Given the description of an element on the screen output the (x, y) to click on. 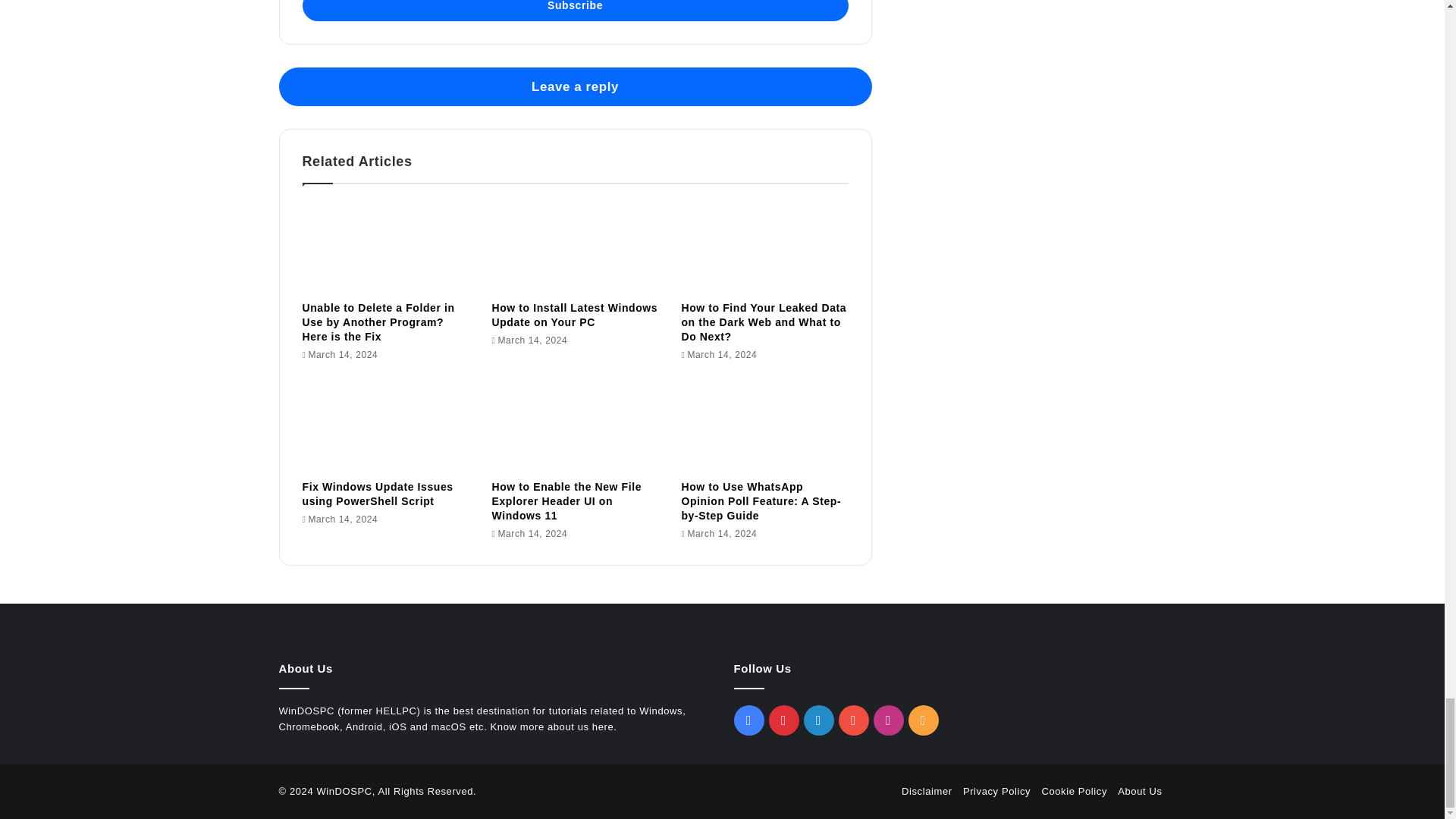
Subscribe (574, 10)
